Given the description of an element on the screen output the (x, y) to click on. 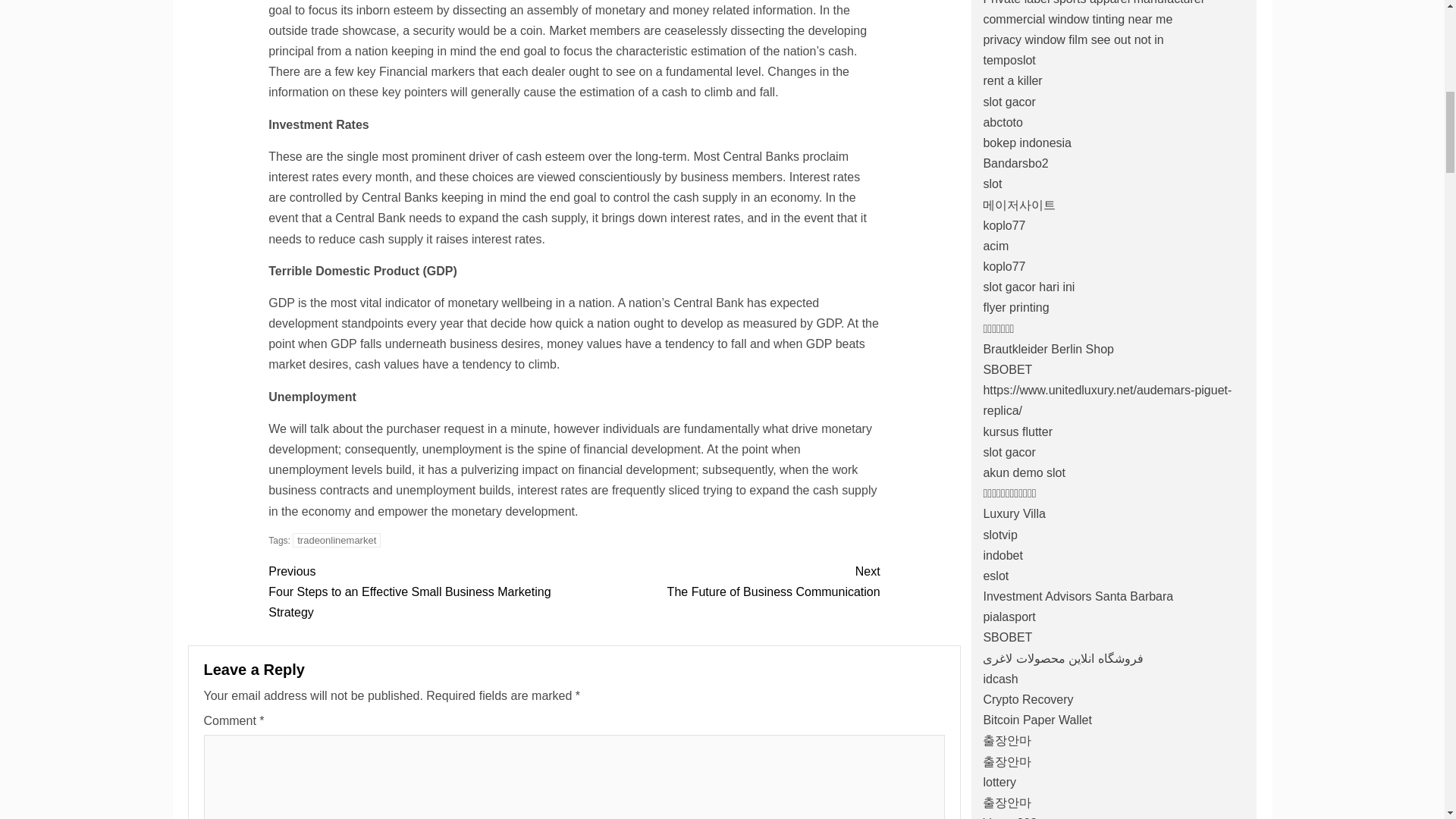
tradeonlinemarket (726, 581)
